Given the description of an element on the screen output the (x, y) to click on. 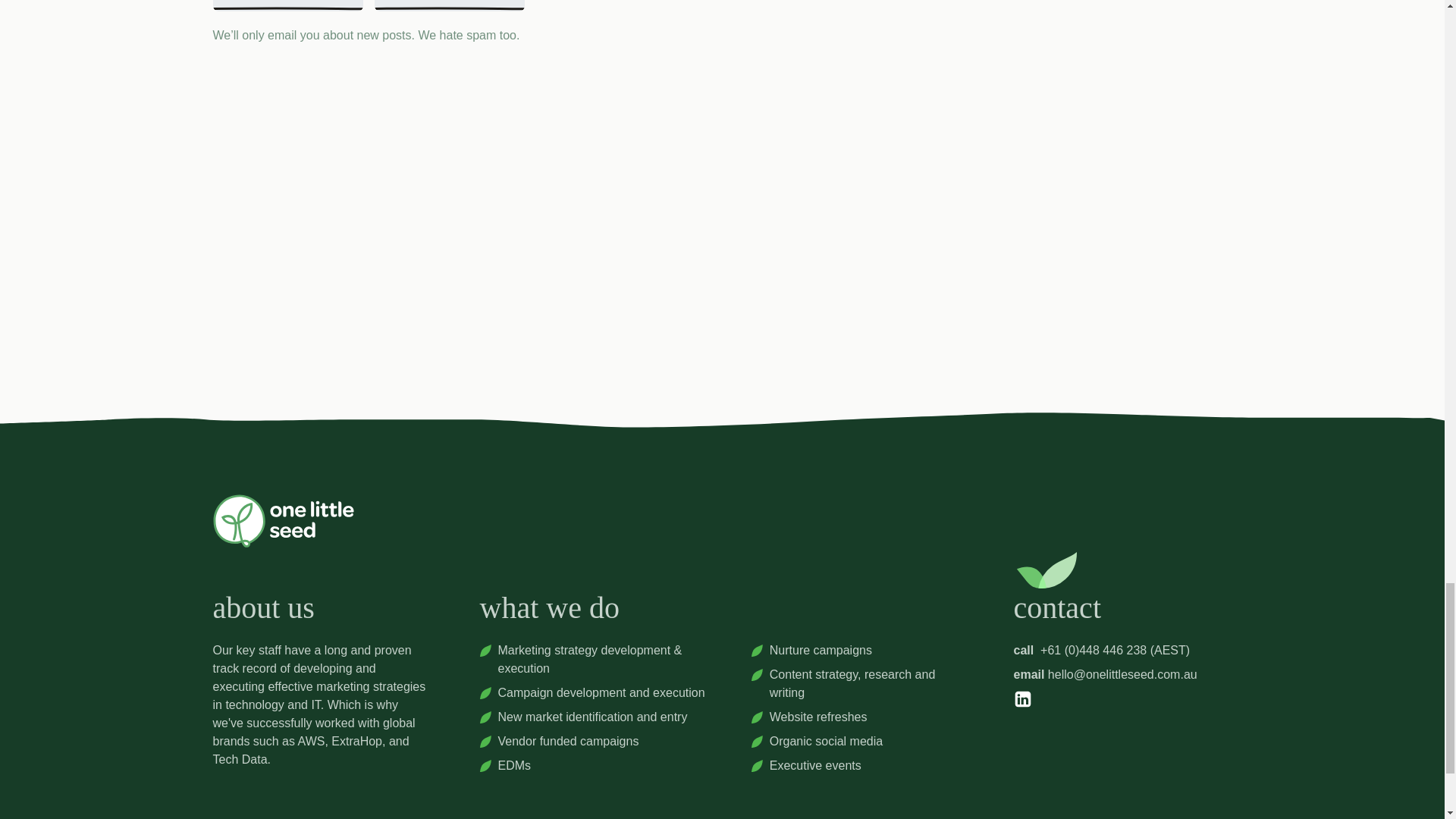
subscribe (581, 5)
what we do (548, 615)
about us (263, 615)
